Given the description of an element on the screen output the (x, y) to click on. 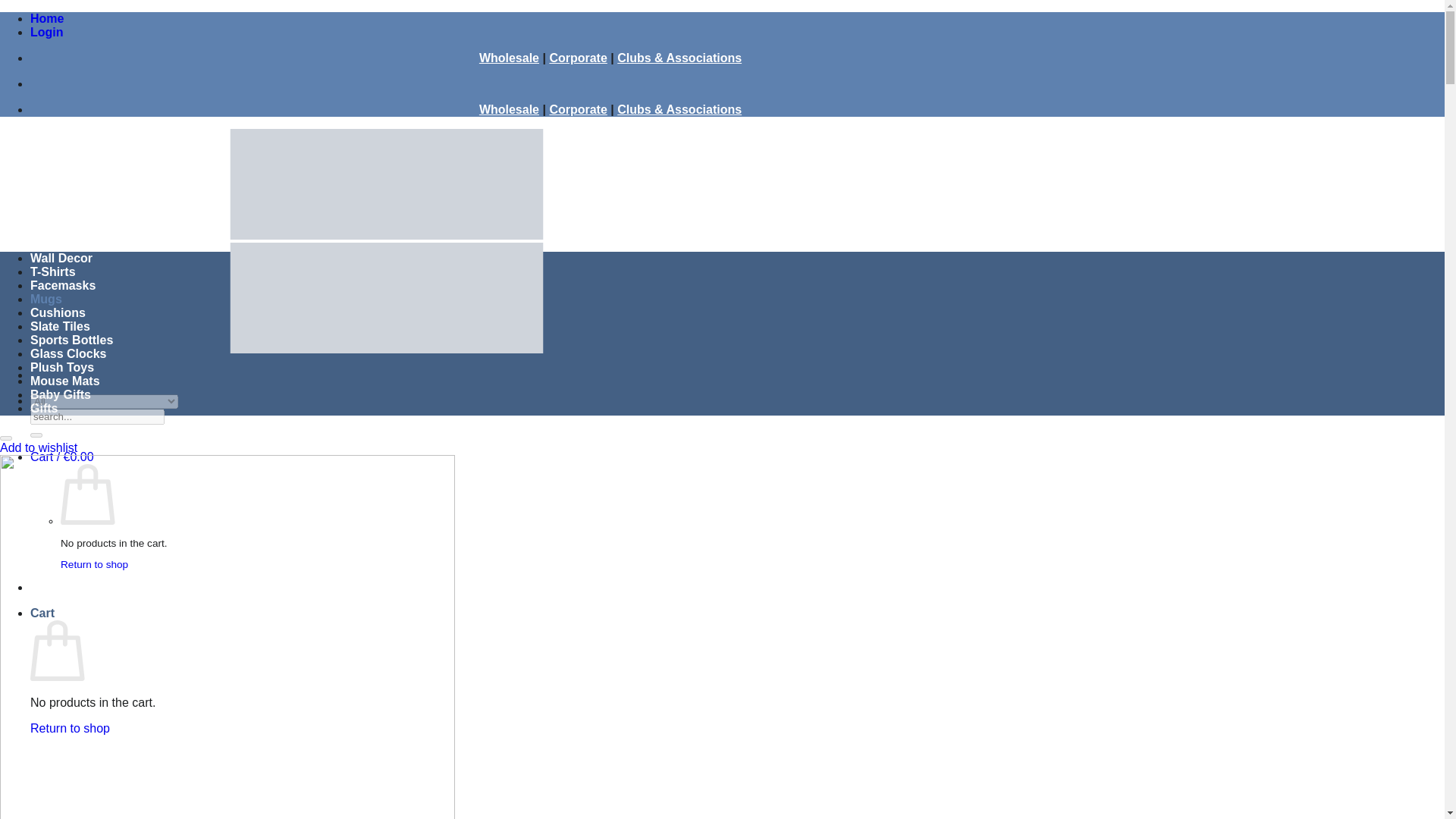
Search (36, 435)
Baby Gifts (60, 394)
Mouse Mats (65, 380)
Home (47, 18)
Add to wishlist (38, 447)
Wholesale (508, 109)
Mugs (46, 298)
Gifts (44, 408)
Corporate (577, 57)
Slate Tiles (60, 326)
